Given the description of an element on the screen output the (x, y) to click on. 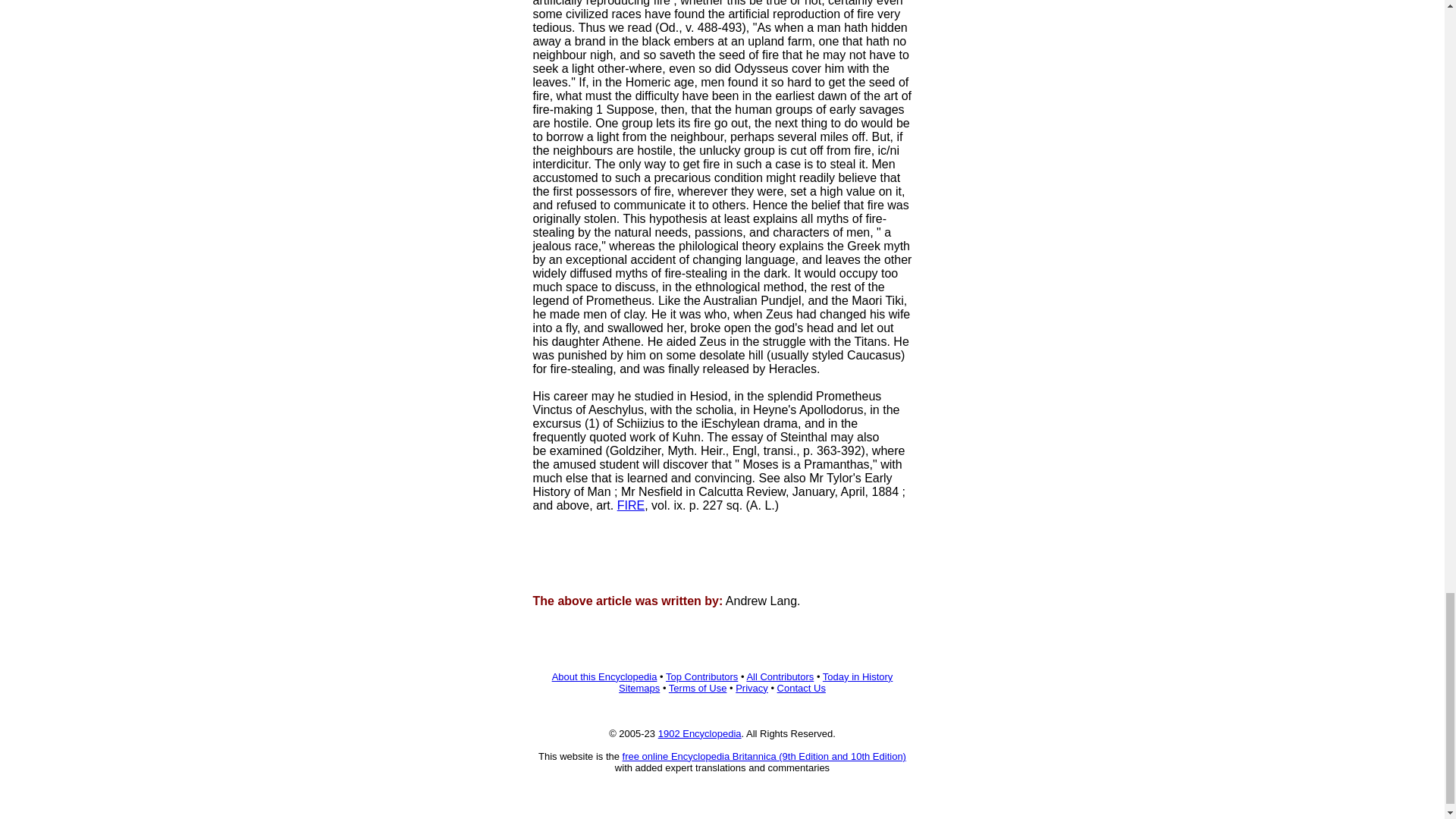
1902 Encyclopedia (699, 733)
Today in History (857, 676)
Top Contributors (701, 676)
FIRE (631, 504)
Privacy (751, 687)
All Contributors (779, 676)
About this Encyclopedia (604, 676)
Terms of Use (697, 687)
Sitemaps (638, 687)
Contact Us (801, 687)
